Given the description of an element on the screen output the (x, y) to click on. 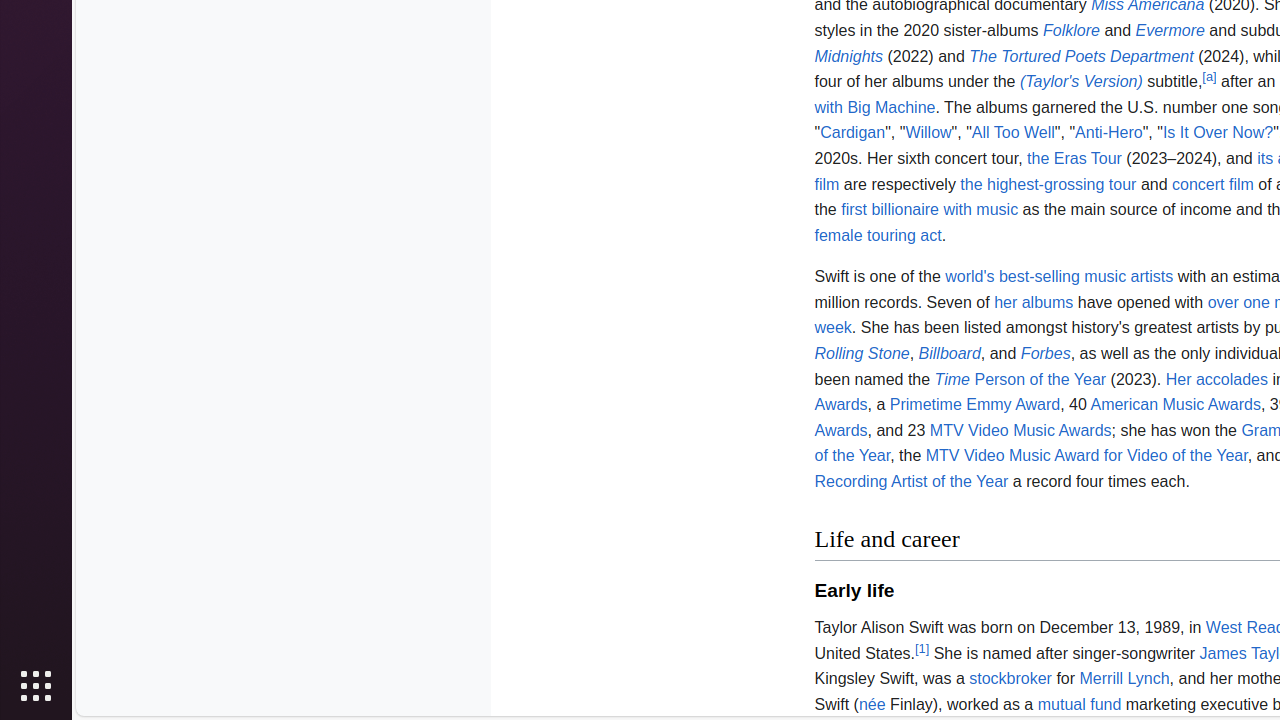
Primetime Emmy Award Element type: link (975, 404)
MTV Video Music Award for Video of the Year Element type: link (1086, 456)
